Given the description of an element on the screen output the (x, y) to click on. 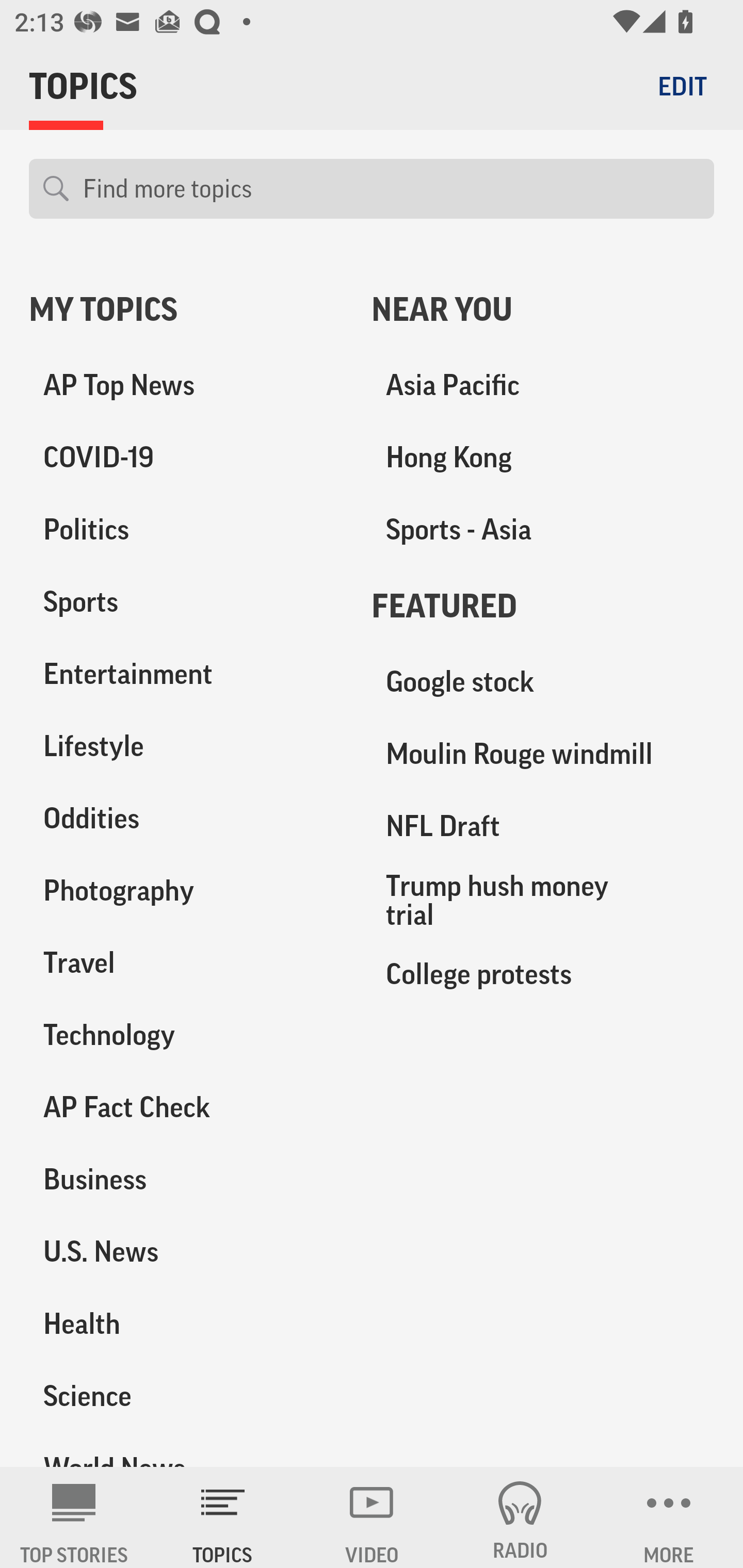
EDIT (682, 86)
Find more topics (391, 188)
AP Top News (185, 385)
Asia Pacific (542, 385)
COVID-19 (185, 457)
Hong Kong (542, 457)
Politics (185, 529)
Sports - Asia (542, 529)
Sports (185, 602)
Entertainment (185, 674)
Google stock (542, 682)
Lifestyle (185, 746)
Moulin Rouge windmill (542, 754)
Oddities (185, 818)
NFL Draft (542, 826)
Photography (185, 890)
Trump hush money trial (542, 899)
Travel (185, 962)
College protests (542, 973)
Technology (185, 1034)
AP Fact Check (185, 1106)
Business (185, 1179)
U.S. News (185, 1251)
Health (185, 1323)
Science (185, 1395)
AP News TOP STORIES (74, 1517)
TOPICS (222, 1517)
VIDEO (371, 1517)
RADIO (519, 1517)
MORE (668, 1517)
